Given the description of an element on the screen output the (x, y) to click on. 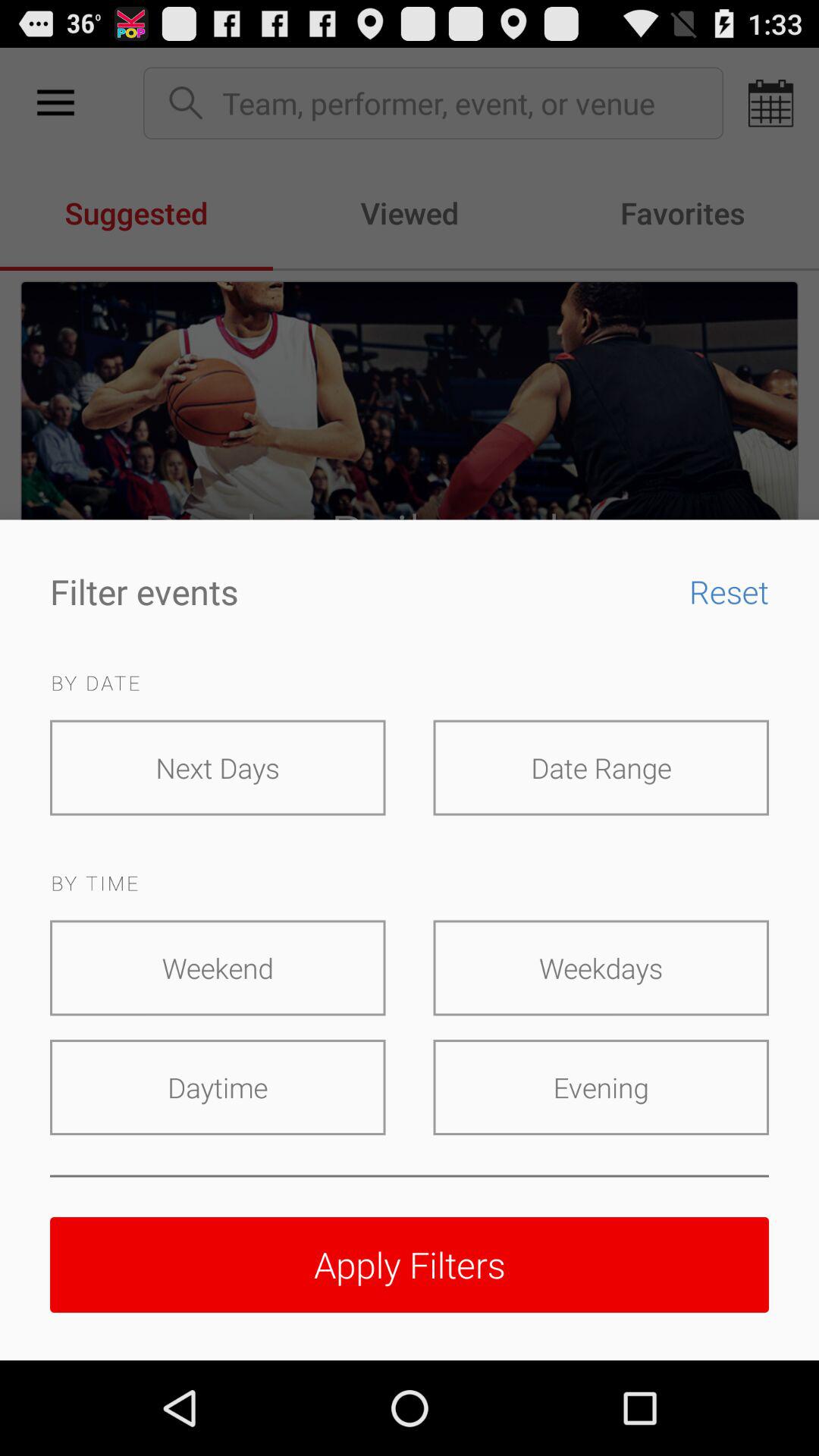
launch icon next to daytime icon (600, 1087)
